Given the description of an element on the screen output the (x, y) to click on. 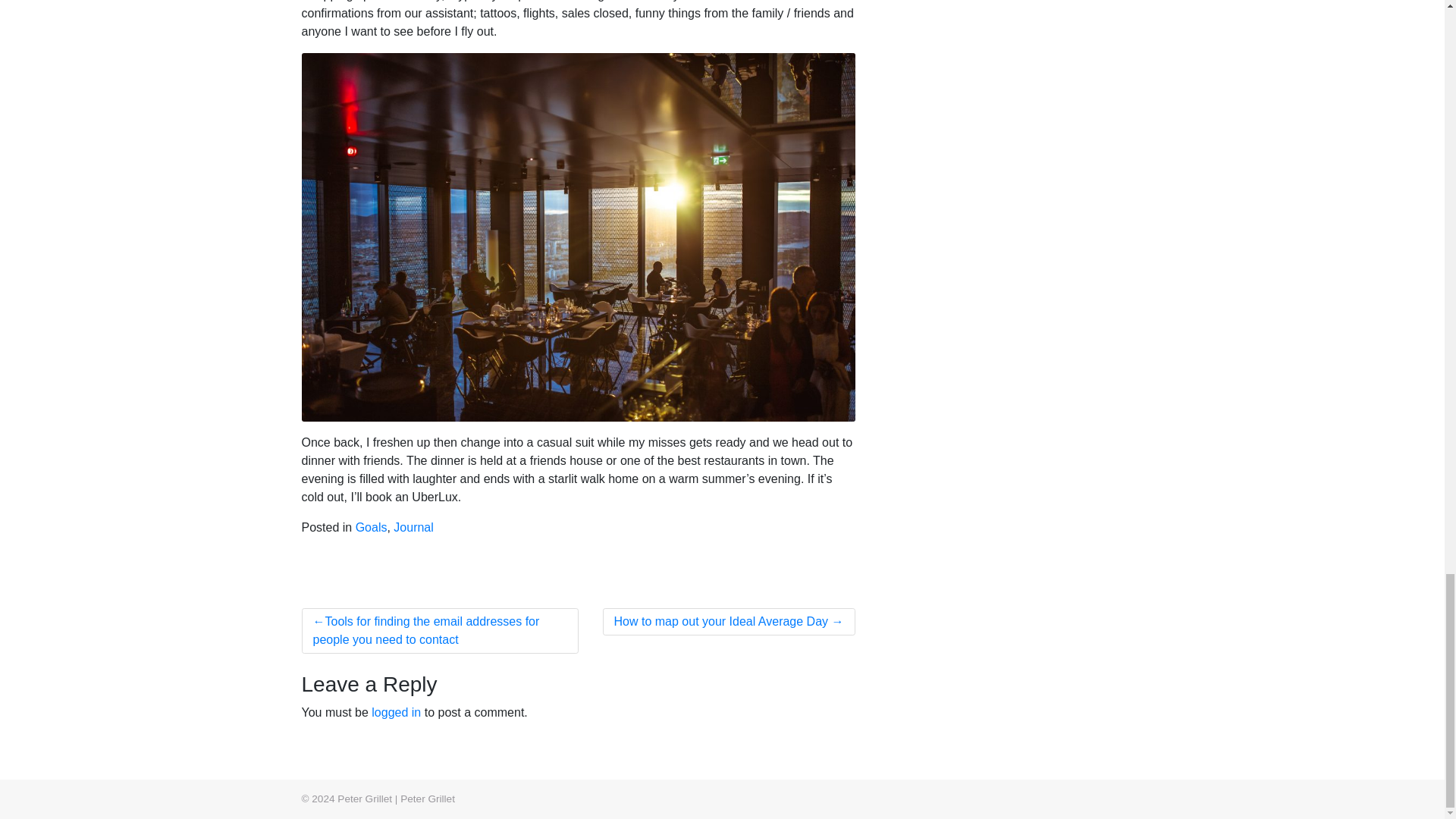
Peter Grillet (364, 798)
How to map out your Ideal Average Day (729, 621)
Peter Grillet (427, 798)
Peter Grillet (427, 798)
Journal (412, 526)
logged in (395, 712)
Goals (371, 526)
